Given the description of an element on the screen output the (x, y) to click on. 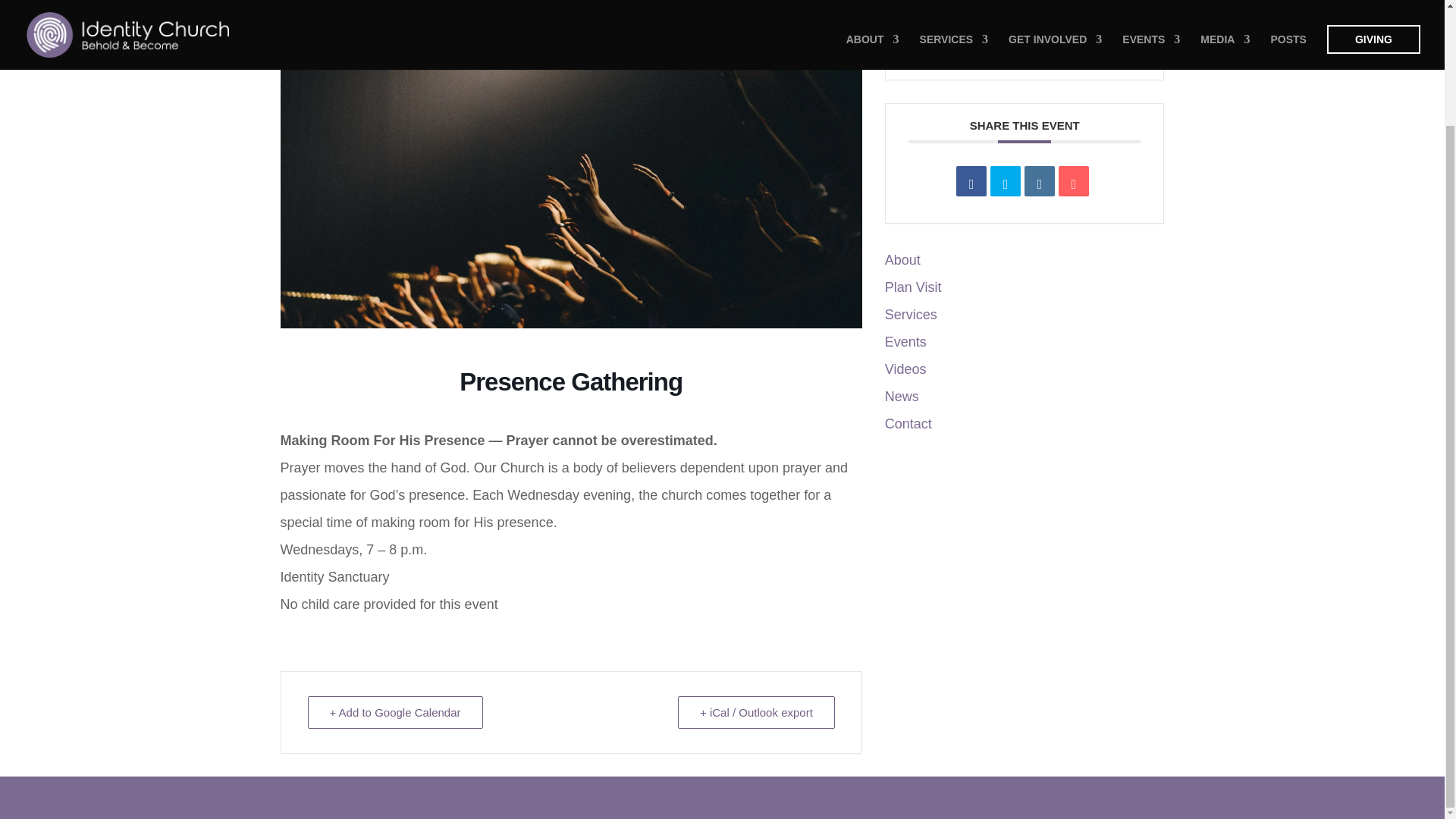
Linkedin (1039, 181)
Email (1073, 181)
Tweet (1005, 181)
Share on Facebook (971, 181)
